Given the description of an element on the screen output the (x, y) to click on. 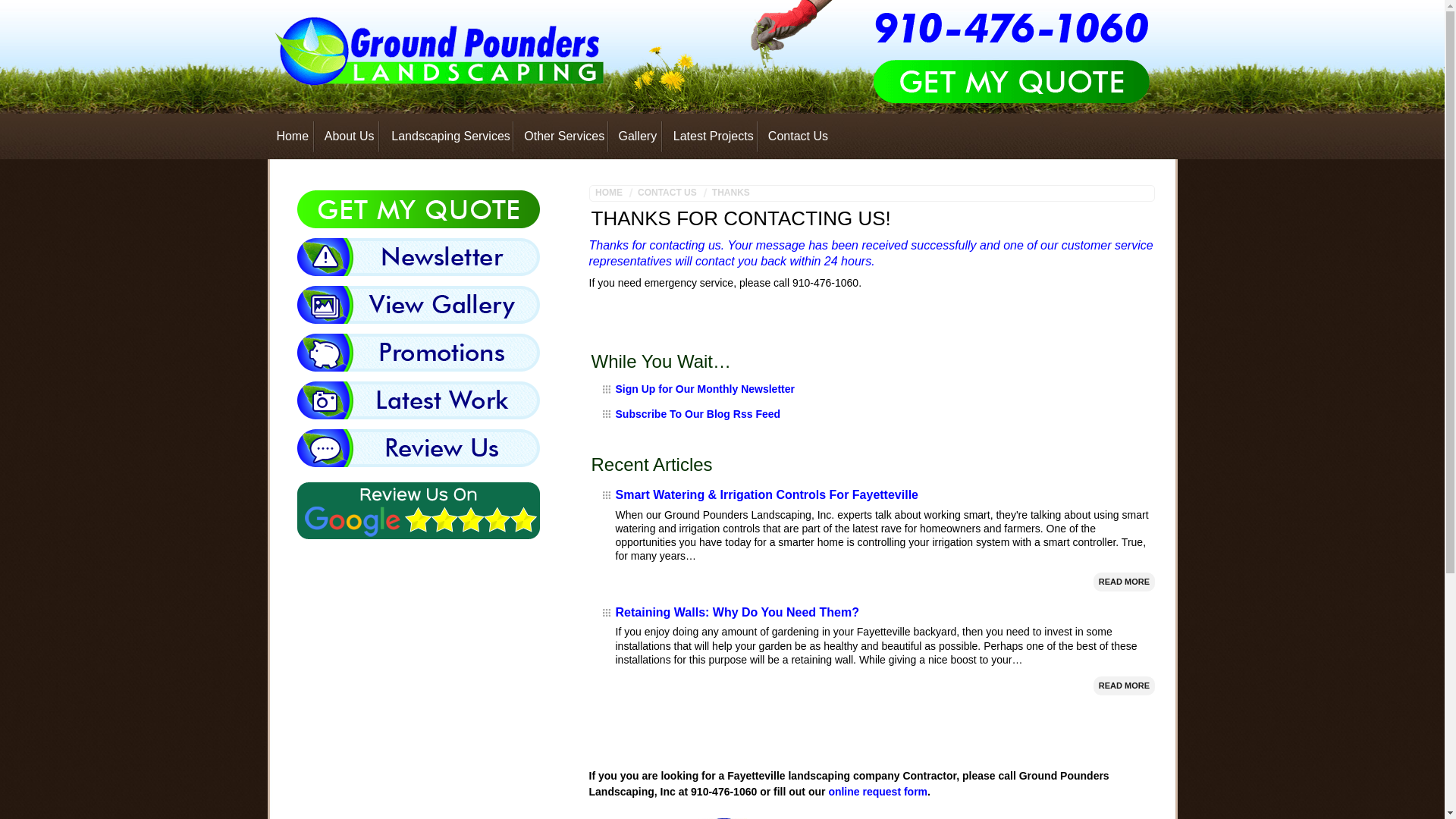
CONTACT US (665, 193)
Contact Us (795, 135)
HOME (611, 193)
About Us (347, 135)
Landscaping Services (446, 135)
THANKS (729, 193)
Other Services (560, 135)
Latest Projects (710, 135)
Home (290, 135)
Gallery (635, 135)
